Given the description of an element on the screen output the (x, y) to click on. 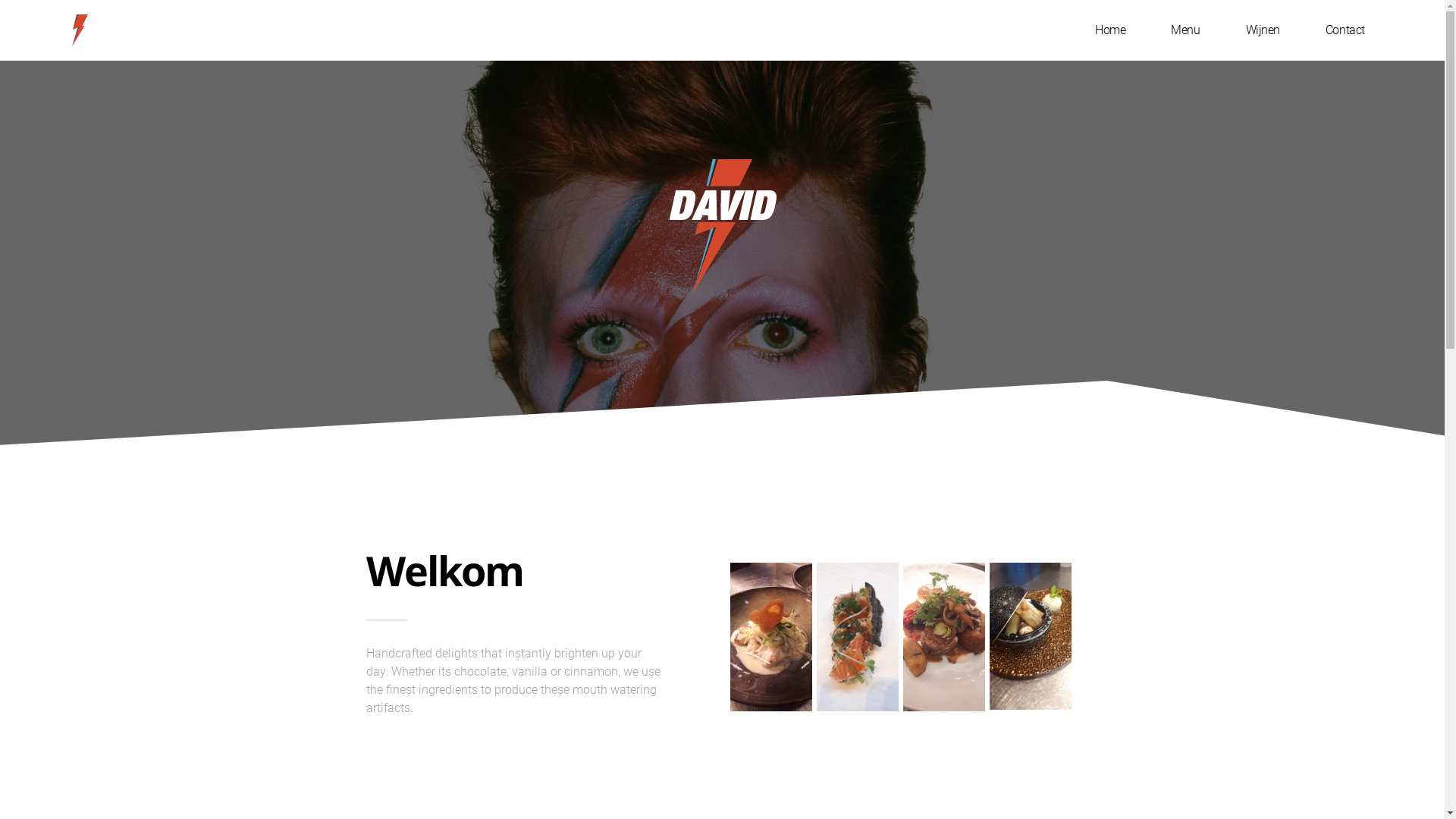
Contact Element type: text (1344, 30)
Wijnen Element type: text (1262, 30)
Menu Element type: text (1185, 30)
Home Element type: text (1109, 30)
